Given the description of an element on the screen output the (x, y) to click on. 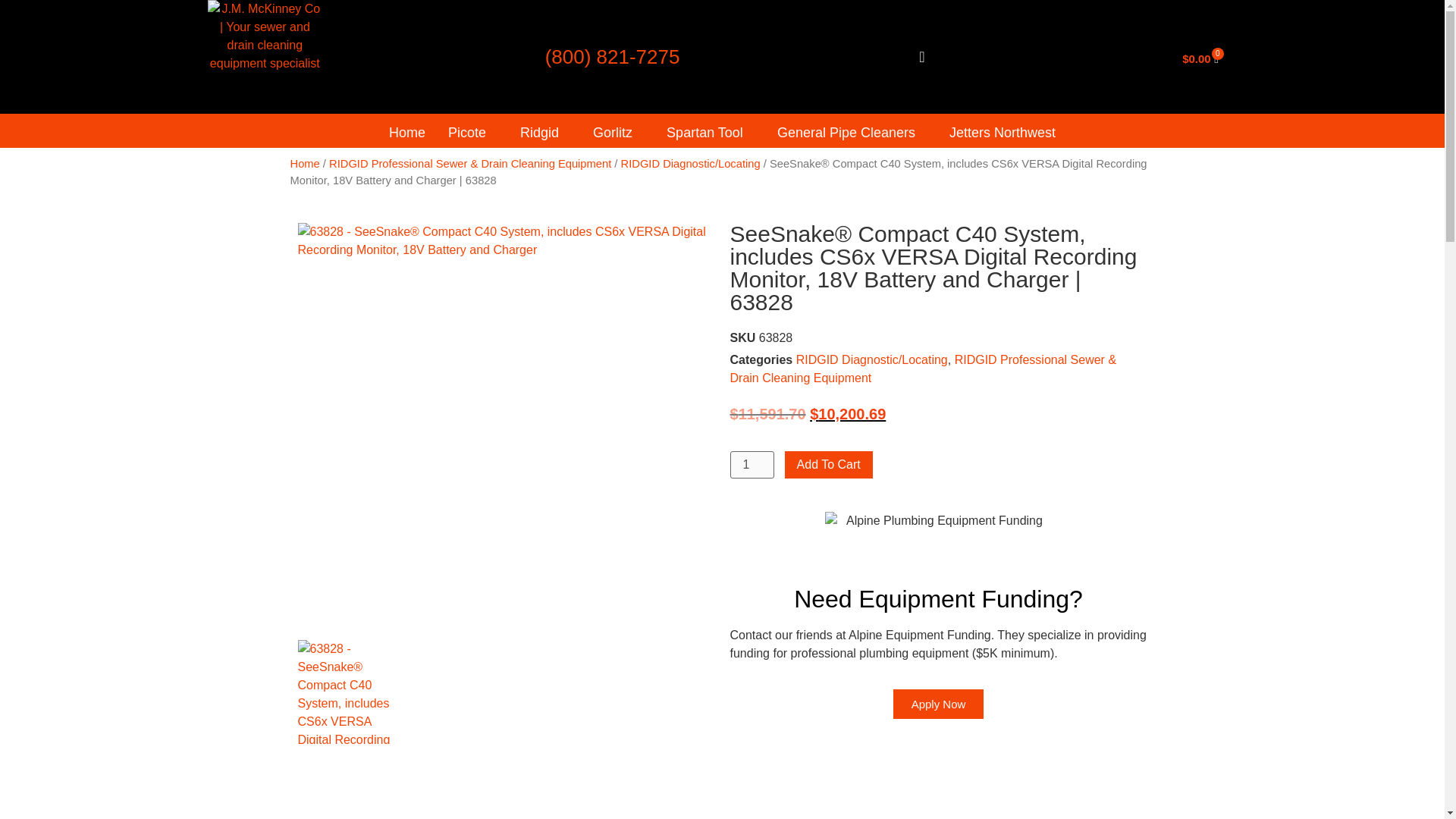
Ridgid (544, 132)
1 (751, 464)
Gorlitz (617, 132)
Spartan Tool (710, 132)
General Pipe Cleaners (851, 132)
Picote (472, 132)
Home (406, 132)
